Given the description of an element on the screen output the (x, y) to click on. 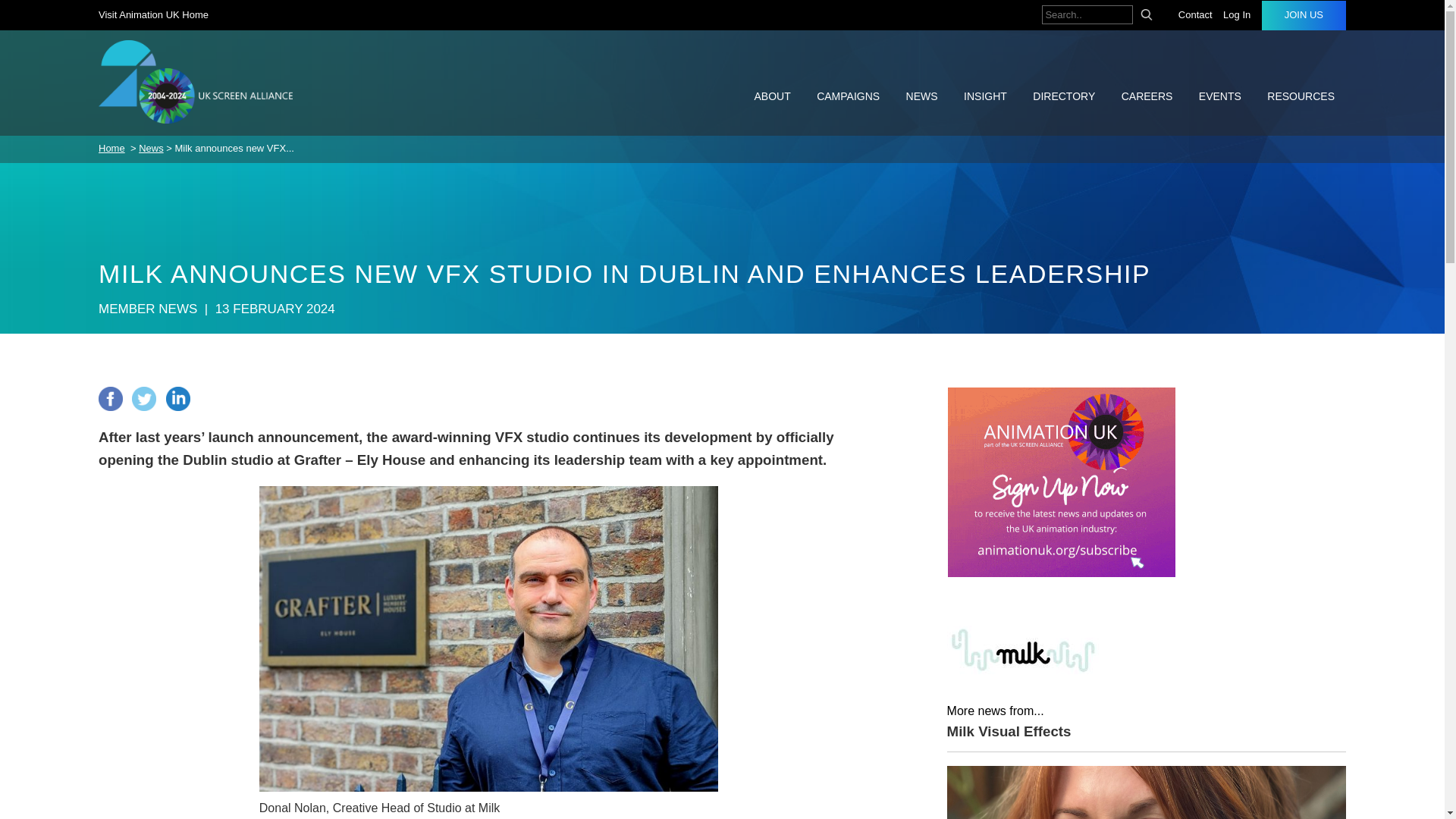
Search (1146, 14)
Home (112, 147)
Search (1146, 14)
twitter sharing button (148, 406)
JOIN US (1303, 15)
Visit Animation UK Home (157, 14)
Log In (1240, 15)
Contact (1198, 15)
News (150, 147)
